Given the description of an element on the screen output the (x, y) to click on. 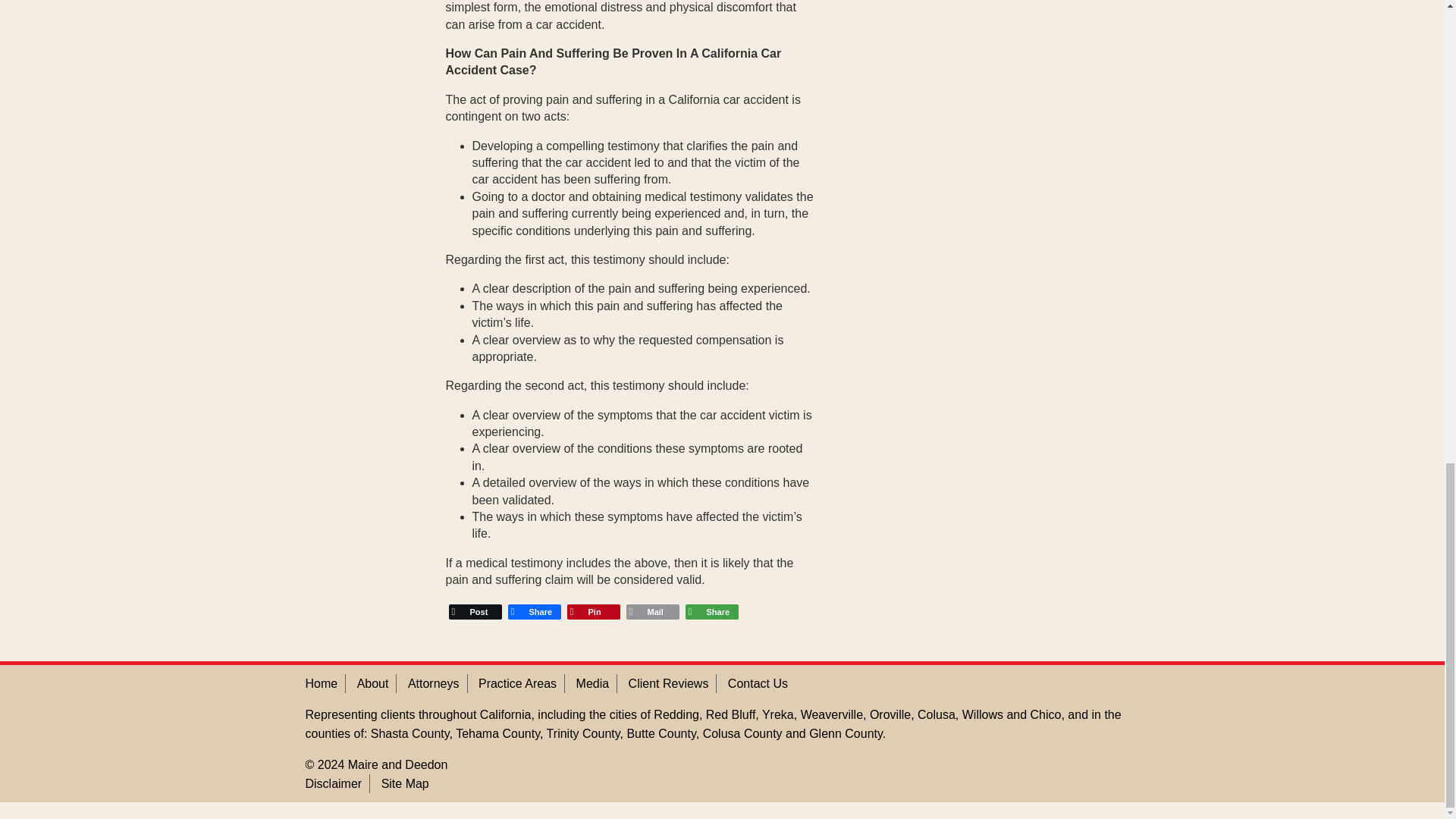
Facebook (534, 611)
Email This (652, 611)
More Options (711, 611)
Pinterest (593, 611)
